Given the description of an element on the screen output the (x, y) to click on. 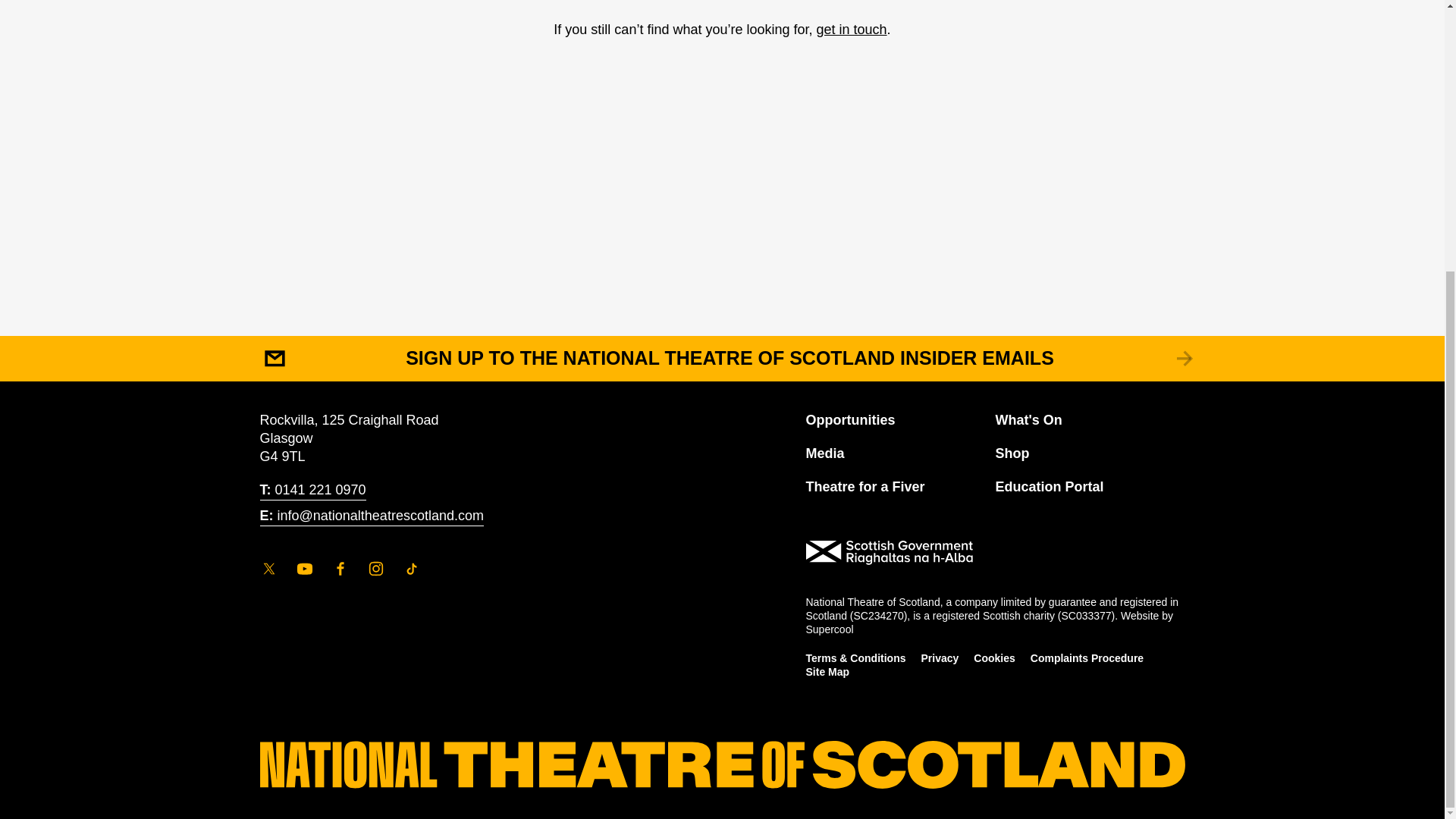
Shop (1011, 454)
TikTok (410, 568)
get in touch (851, 29)
What's On (1027, 420)
Instagram (376, 568)
Twitter (268, 568)
Facebook (339, 568)
Media (824, 454)
Theatre for a Fiver (864, 487)
Site Map (826, 672)
Cookies (994, 658)
Opportunities (850, 420)
T: 0141 221 0970 (312, 490)
YouTube (304, 568)
Complaints Procedure (1086, 658)
